Given the description of an element on the screen output the (x, y) to click on. 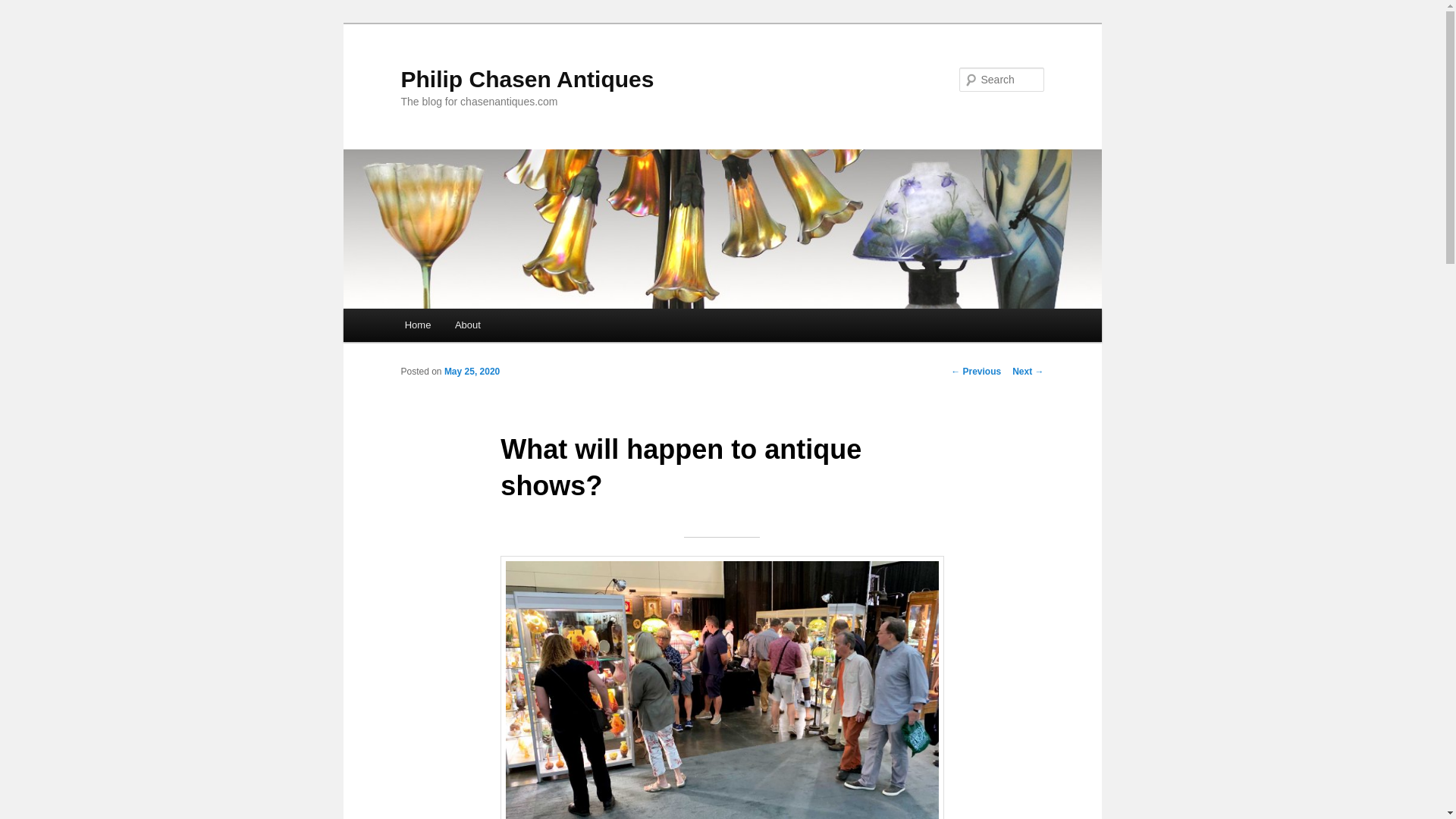
May 25, 2020 (471, 371)
Philip Chasen Antiques (526, 78)
Search (24, 8)
About (467, 324)
3:00 AM (471, 371)
Home (417, 324)
